Given the description of an element on the screen output the (x, y) to click on. 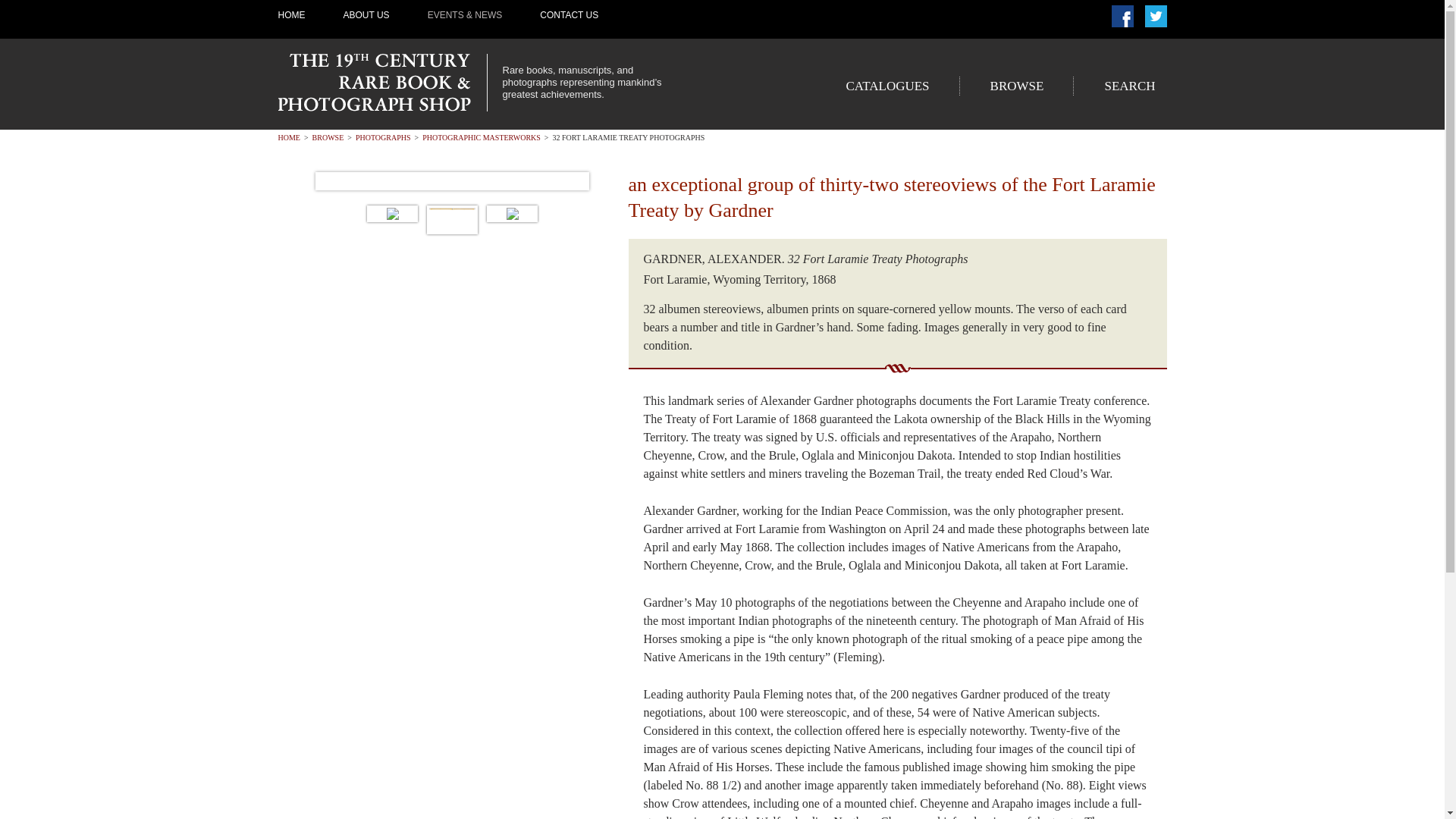
BROWSE (328, 137)
ABOUT US (365, 15)
HOME (288, 137)
BROWSE (1016, 85)
PHOTOGRAPHS (382, 137)
Go to the Photographs Book Category archives. (382, 137)
PHOTOGRAPHIC MASTERWORKS (481, 137)
CATALOGUES (886, 85)
CONTACT US (569, 15)
SEARCH (1128, 85)
